Given the description of an element on the screen output the (x, y) to click on. 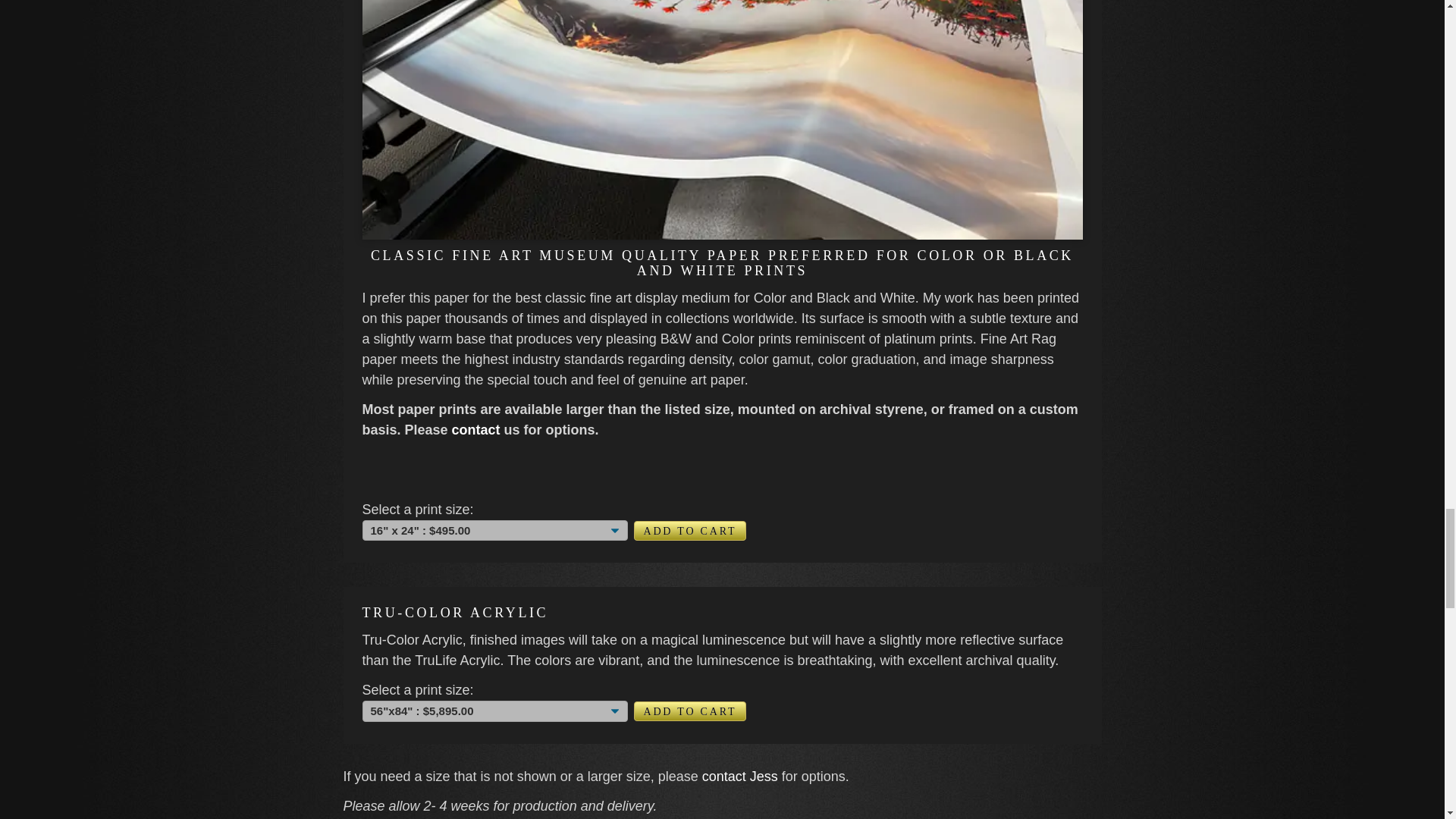
ADD TO CART (689, 711)
contact Jess (741, 776)
contact (477, 429)
ADD TO CART (689, 530)
